Given the description of an element on the screen output the (x, y) to click on. 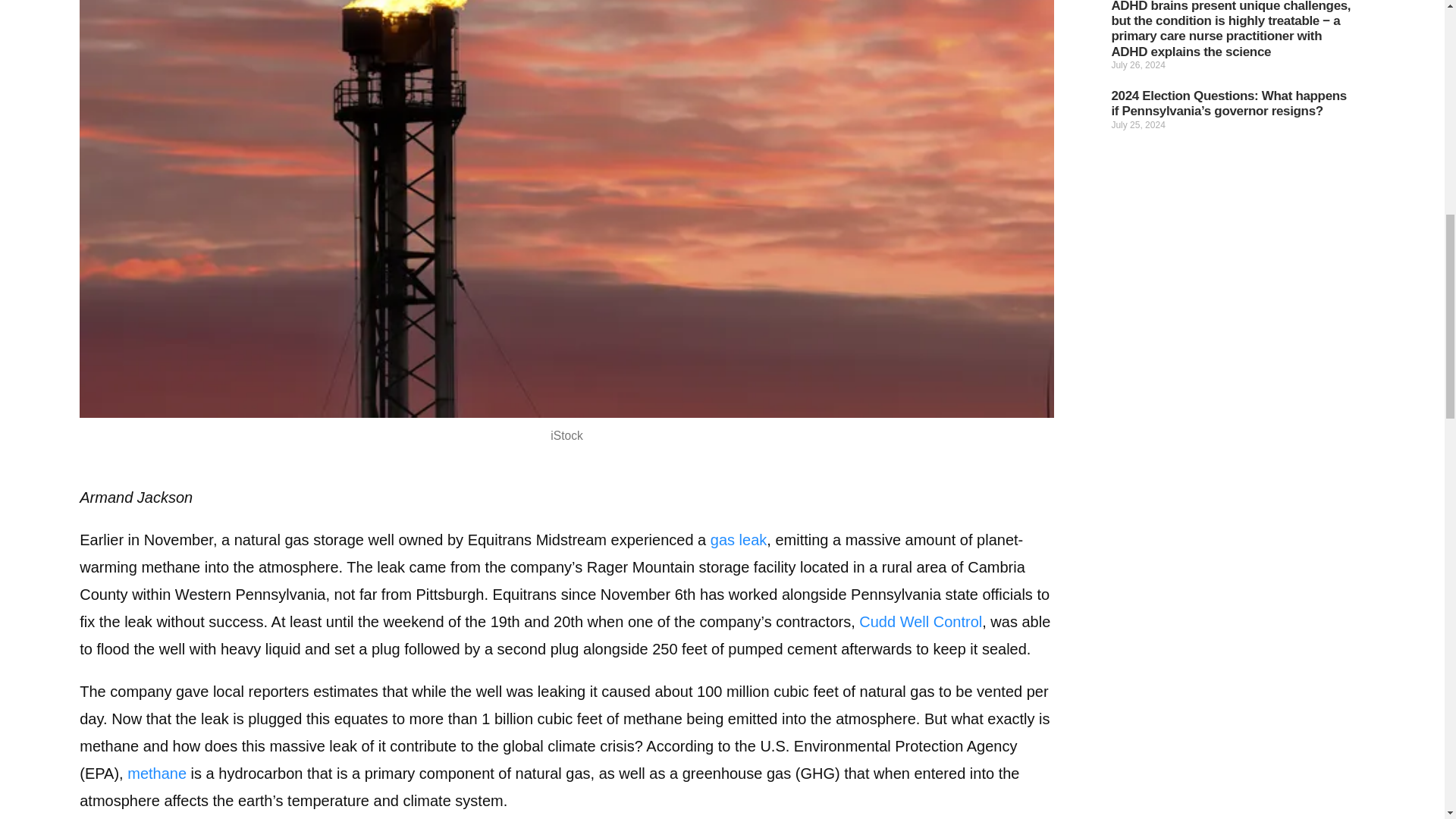
methane (157, 773)
Cudd Well Control (920, 621)
gas leak (738, 539)
